Given the description of an element on the screen output the (x, y) to click on. 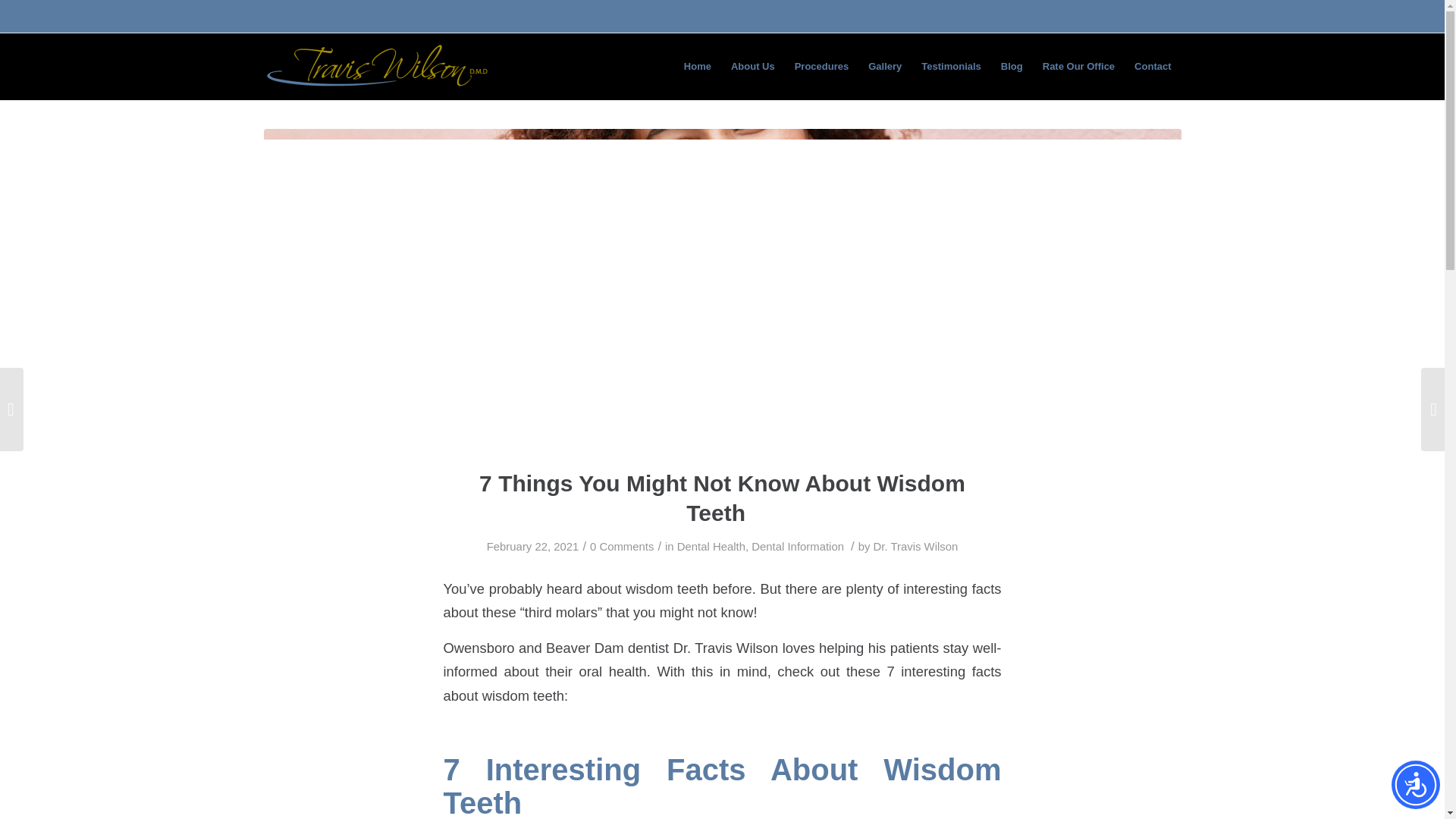
7 Things You Might Not Know About Wisdom Teeth   (722, 497)
Testimonials (951, 66)
Accessibility Menu (1415, 784)
Facebook (1169, 15)
About Us (752, 66)
Rate Our Office (1078, 66)
Dental Health (711, 546)
0 Comments (621, 546)
